Given the description of an element on the screen output the (x, y) to click on. 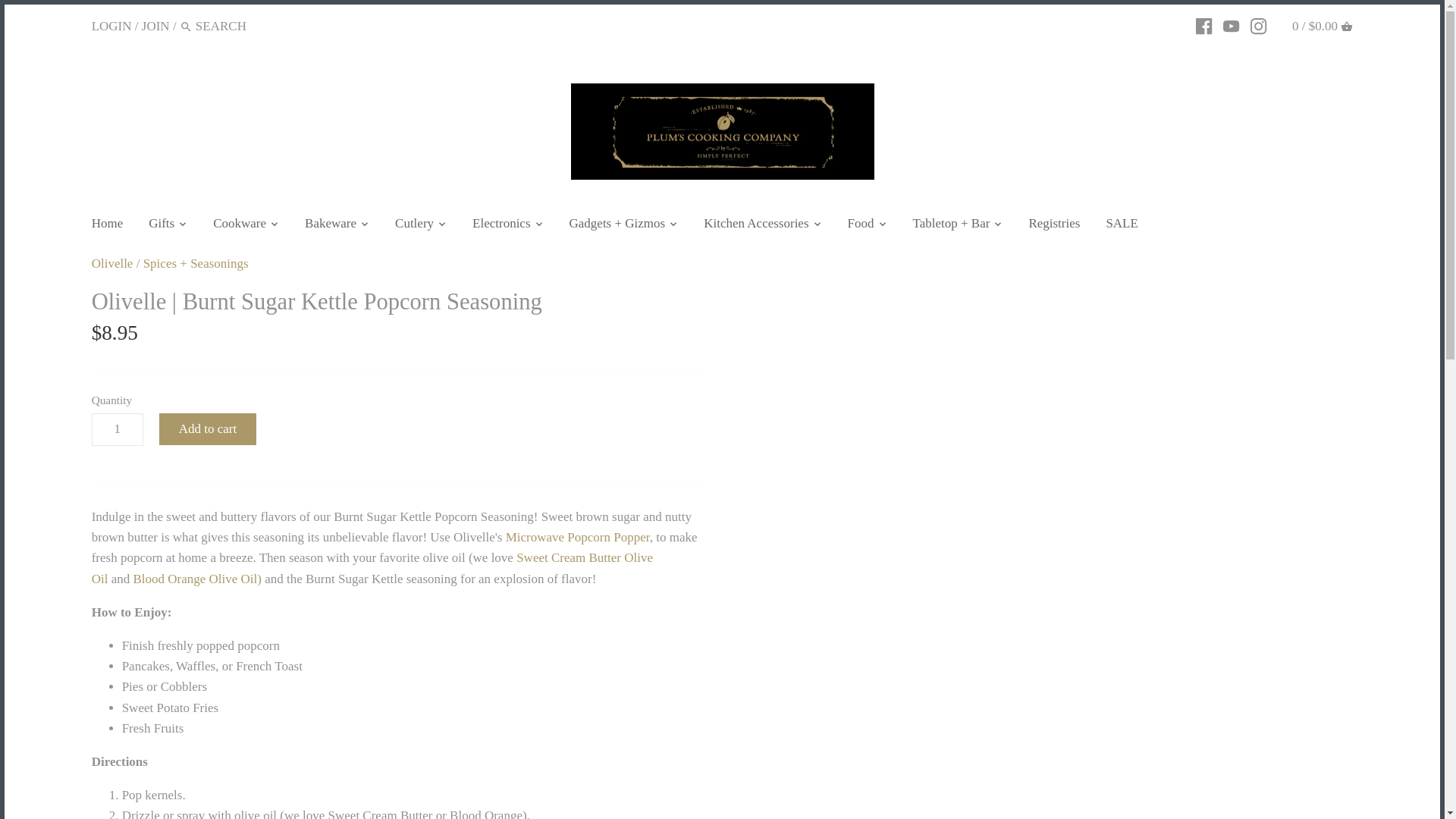
FACEBOOK (1203, 26)
Blood Orange Olive Oil (197, 578)
CART (1346, 26)
1 (116, 429)
Search (185, 25)
Gifts (161, 225)
Sweet Cream Butter Olive Oil (371, 567)
Cookware (239, 225)
Home (113, 225)
LOGIN (111, 25)
